Given the description of an element on the screen output the (x, y) to click on. 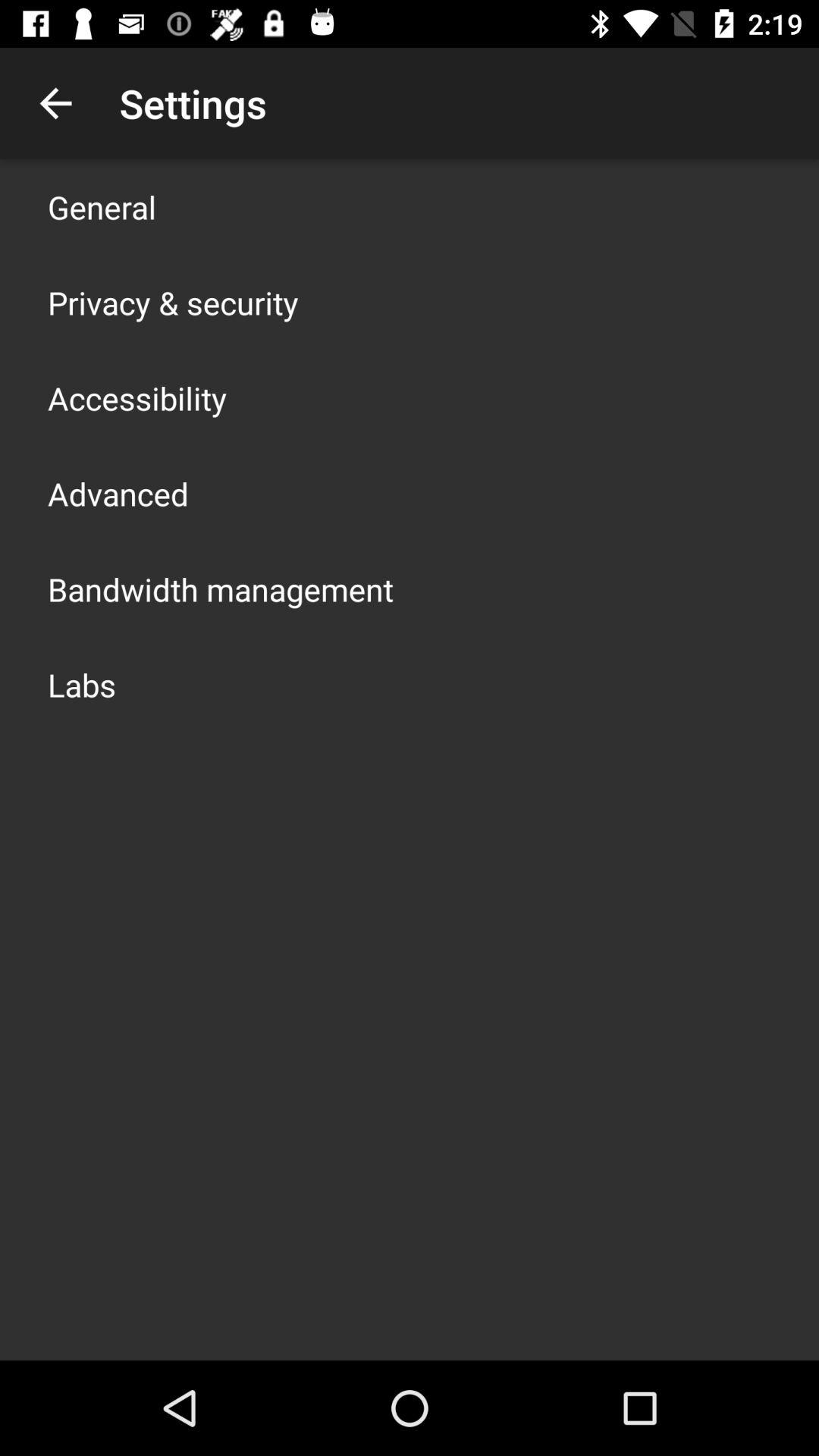
scroll to privacy & security app (172, 302)
